Given the description of an element on the screen output the (x, y) to click on. 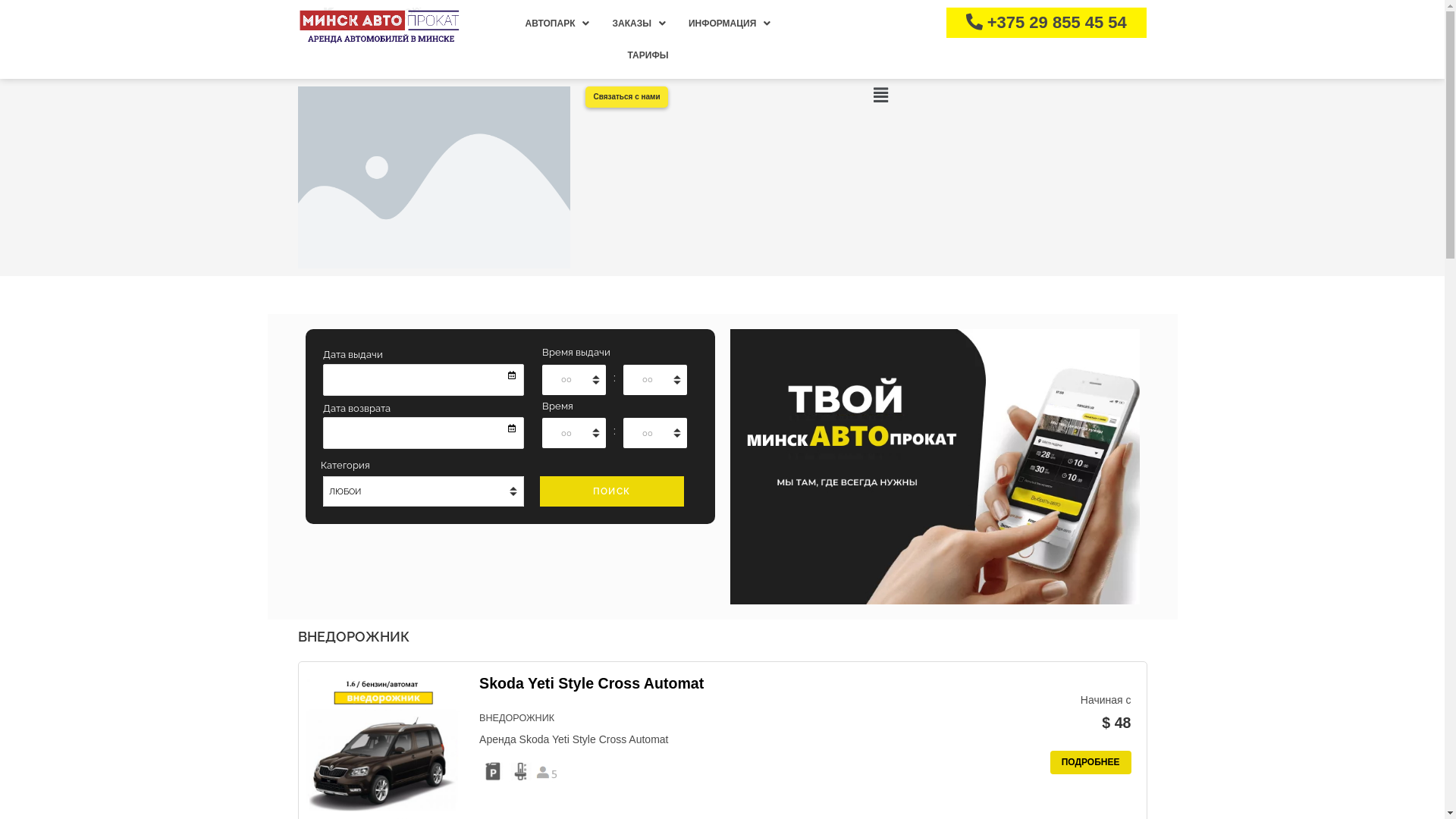
Skoda Yeti Style Cross Automat Element type: text (591, 682)
+375 29 855 45 54 Element type: text (1046, 21)
